Given the description of an element on the screen output the (x, y) to click on. 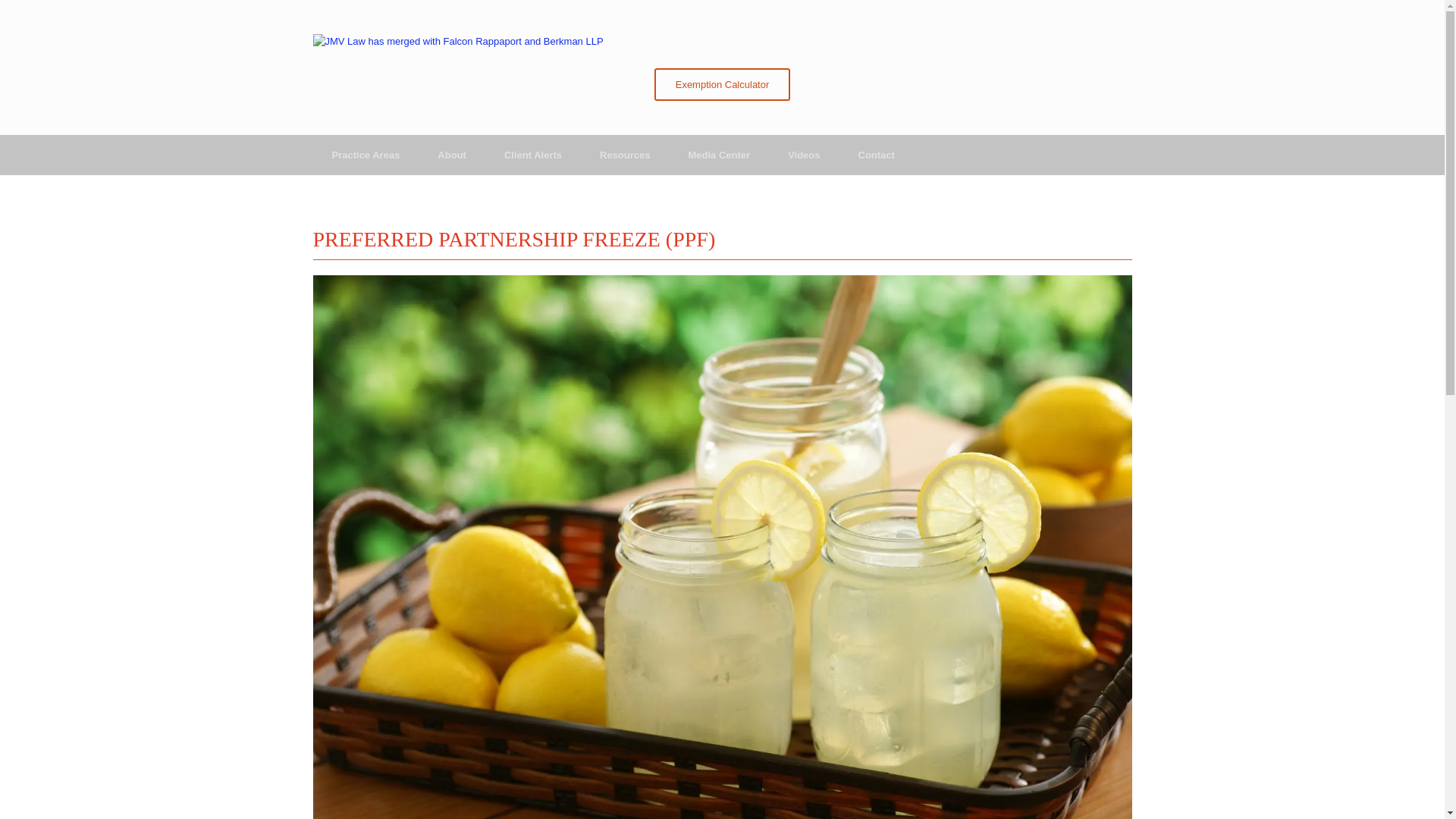
Practice Areas (366, 155)
Media Center (718, 155)
Videos (803, 155)
About (451, 155)
Exemption Calculator (721, 83)
Client Alerts (532, 155)
Resources (624, 155)
Jeffrey M. Verdon Law Group (457, 41)
